Given the description of an element on the screen output the (x, y) to click on. 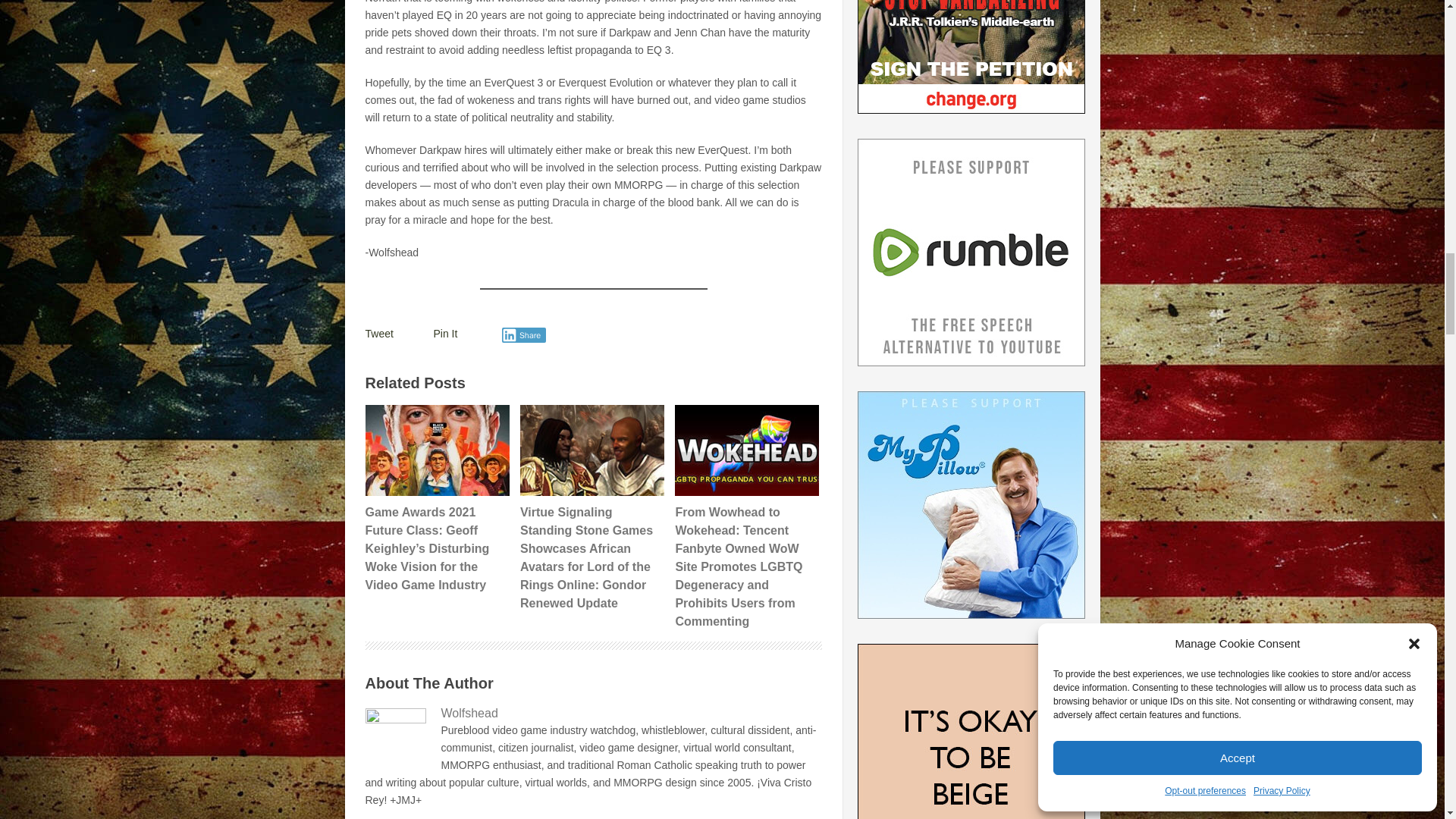
Pin It (445, 333)
Share (524, 335)
Wolfshead (593, 713)
Tweet (379, 333)
